Given the description of an element on the screen output the (x, y) to click on. 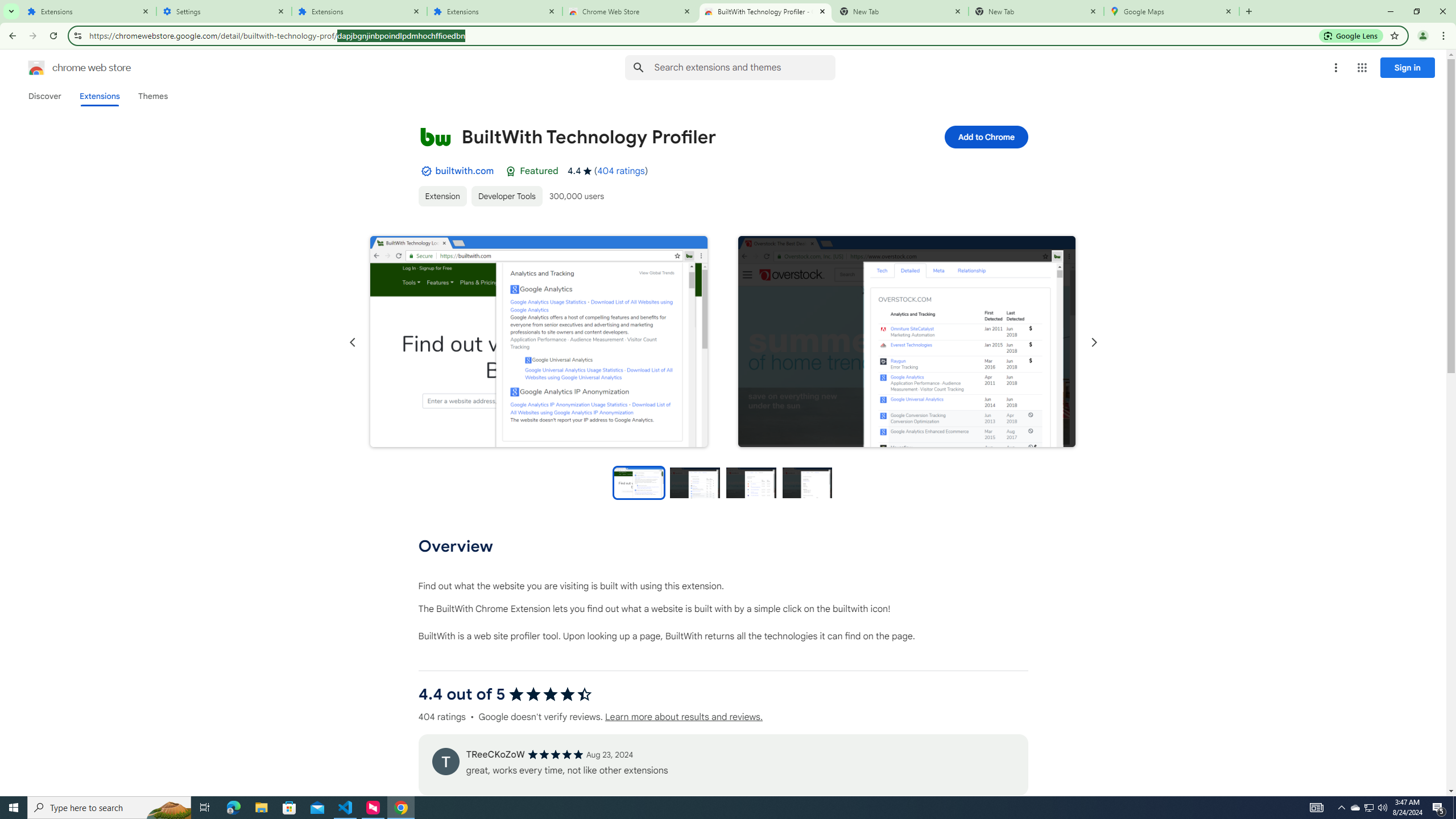
Chrome Web Store (630, 11)
Close (1228, 11)
Back (10, 35)
Add to Chrome (985, 136)
New Tab (1036, 11)
Item media 2 screenshot (906, 341)
Bookmark this tab (1393, 35)
Chrome (1445, 35)
Chrome Web Store logo chrome web store (67, 67)
Sign in (1407, 67)
Restore (1416, 11)
Extensions (494, 11)
Extension (442, 195)
Extensions (359, 11)
